Given the description of an element on the screen output the (x, y) to click on. 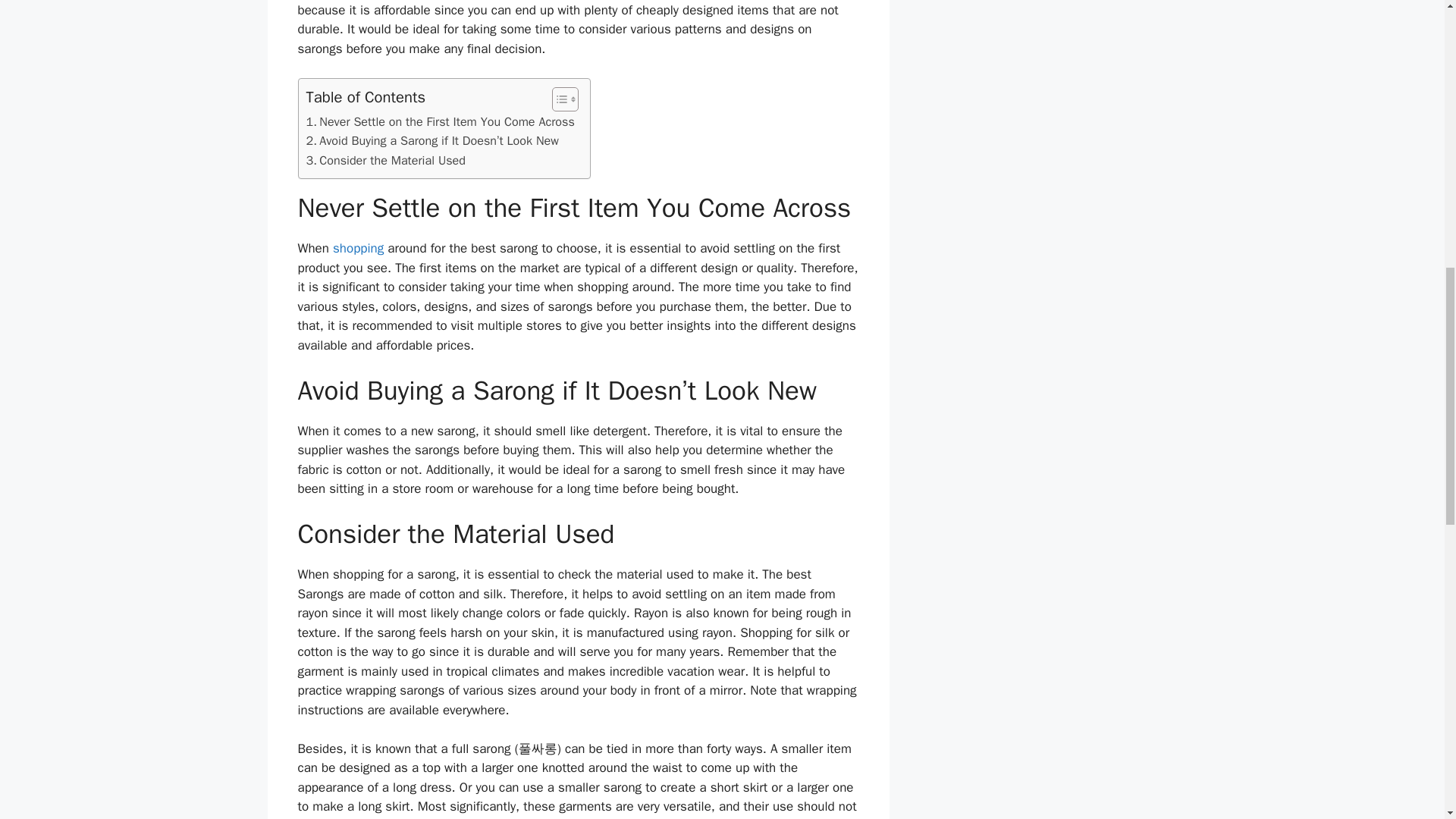
Never Settle on the First Item You Come Across (440, 121)
Never Settle on the First Item You Come Across (440, 121)
